Given the description of an element on the screen output the (x, y) to click on. 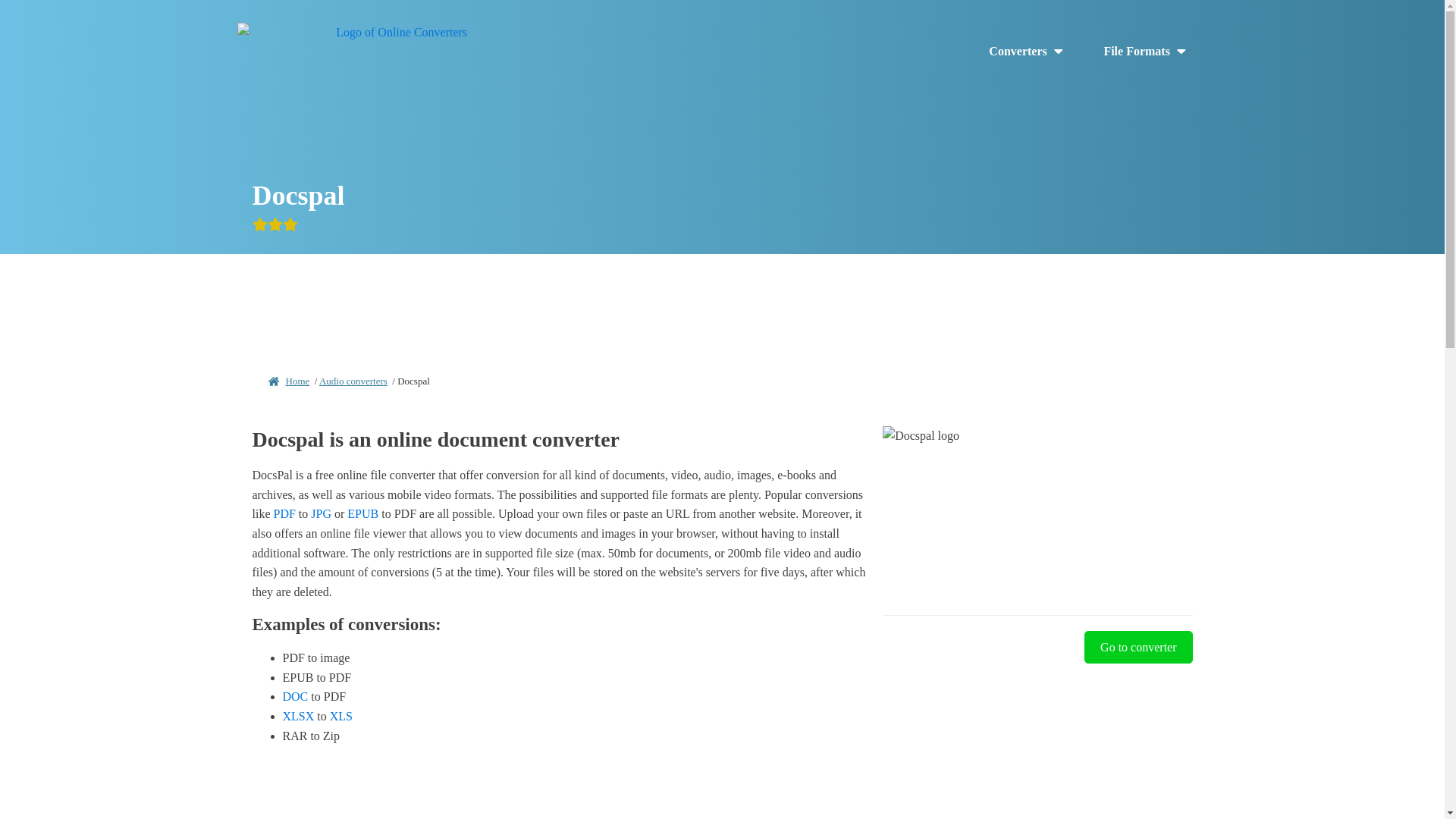
EPUB (362, 513)
JPG (321, 513)
Converters (1026, 51)
Go to converter (1138, 647)
Home (296, 380)
File Formats (1145, 51)
XLSX (298, 716)
XLS (341, 716)
PDF (284, 513)
DOC (294, 696)
